Given the description of an element on the screen output the (x, y) to click on. 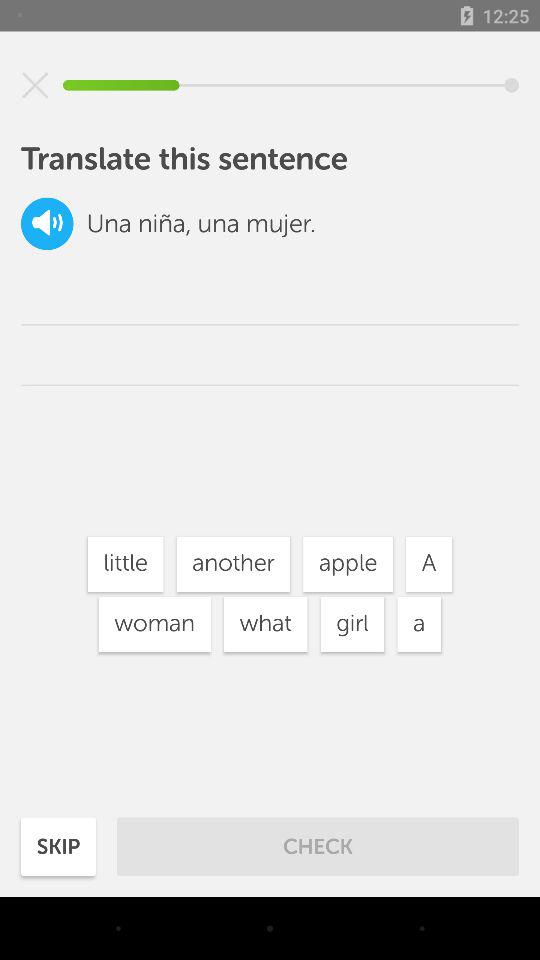
close question (35, 85)
